Given the description of an element on the screen output the (x, y) to click on. 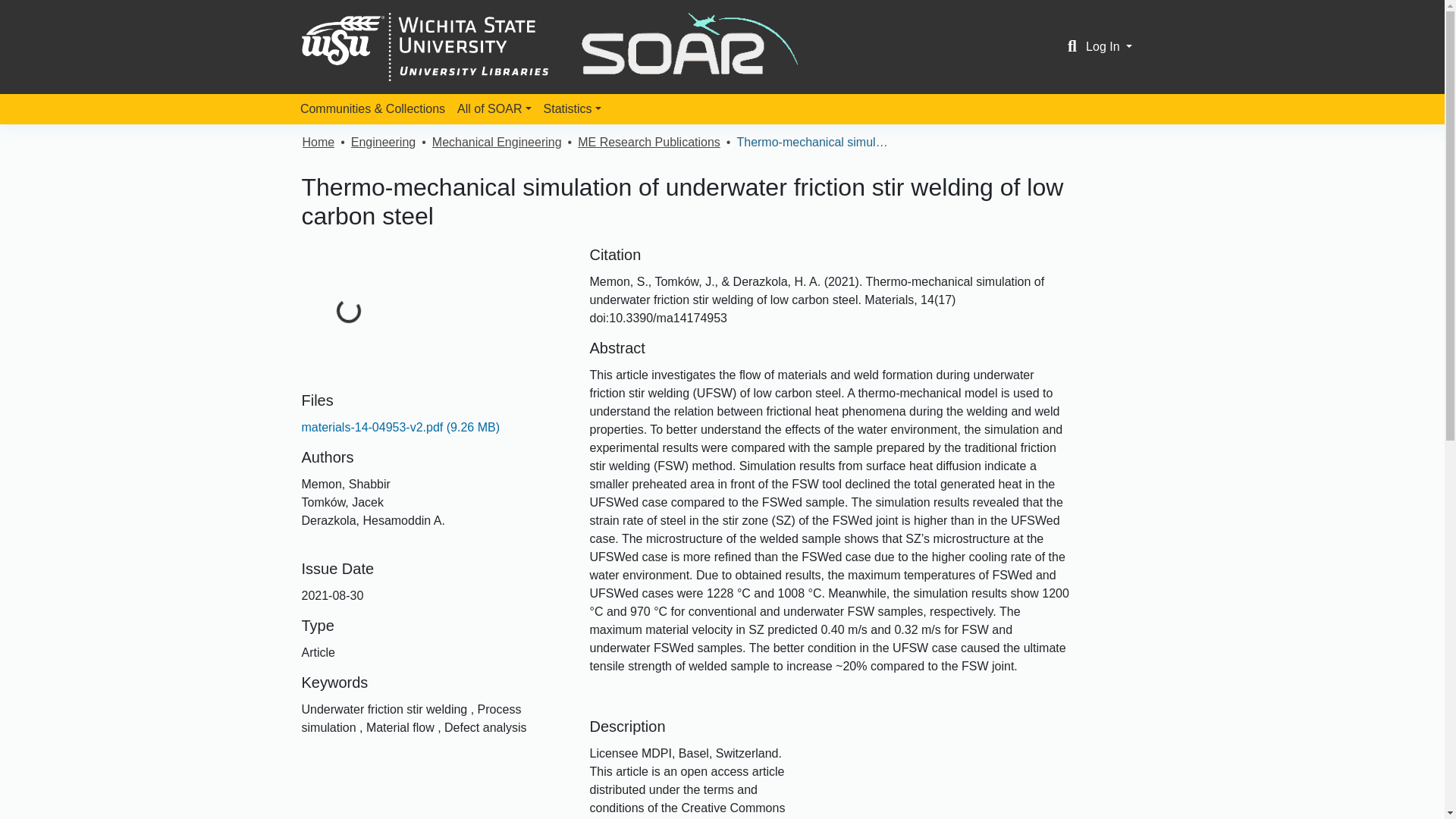
All of SOAR (494, 109)
Log In (1108, 46)
Home (317, 142)
ME Research Publications (649, 142)
Mechanical Engineering (497, 142)
Statistics (572, 109)
Engineering (382, 142)
Search (1072, 46)
